Given the description of an element on the screen output the (x, y) to click on. 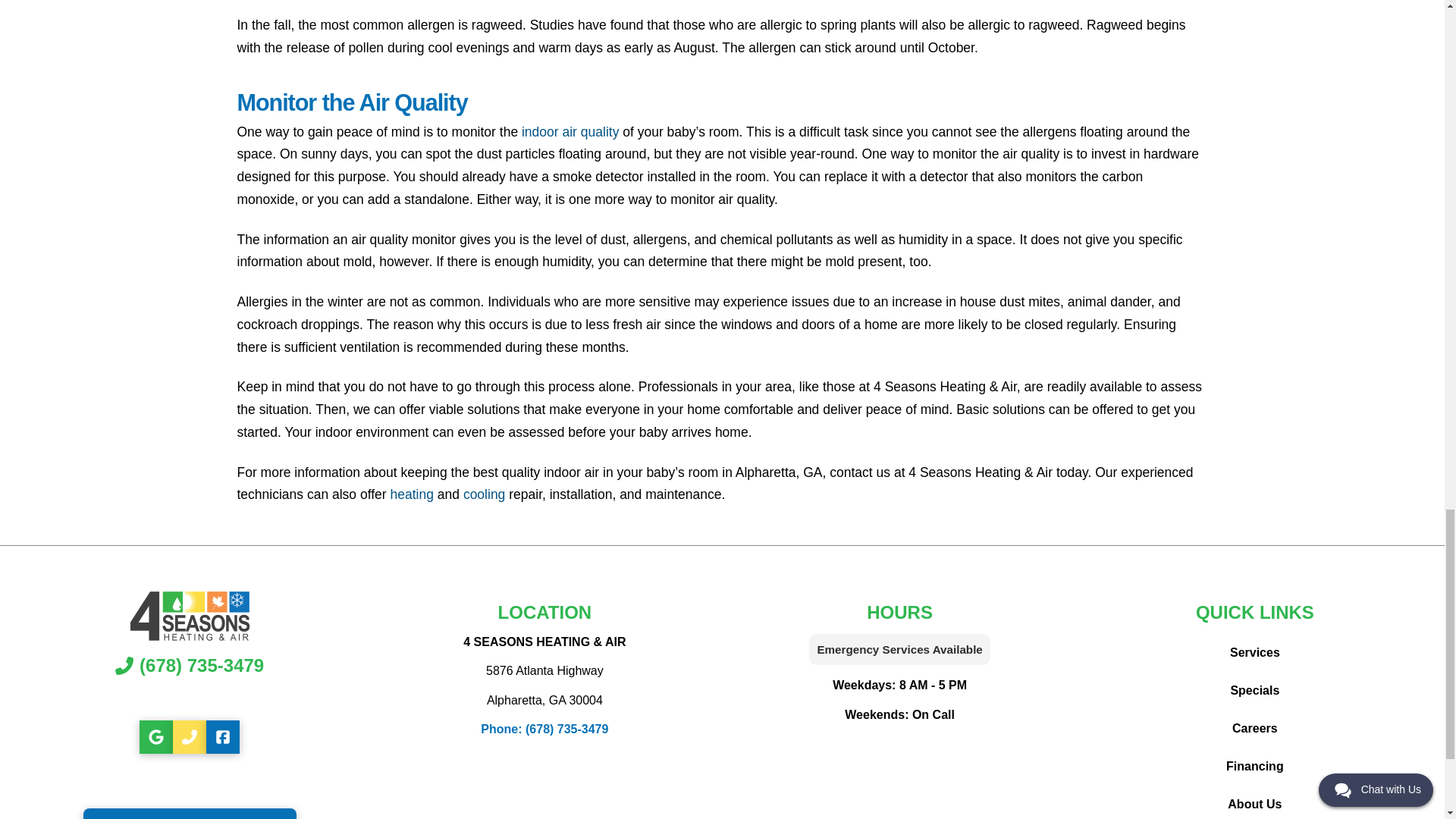
heating (411, 494)
indoor air quality (569, 131)
cooling (484, 494)
